Given the description of an element on the screen output the (x, y) to click on. 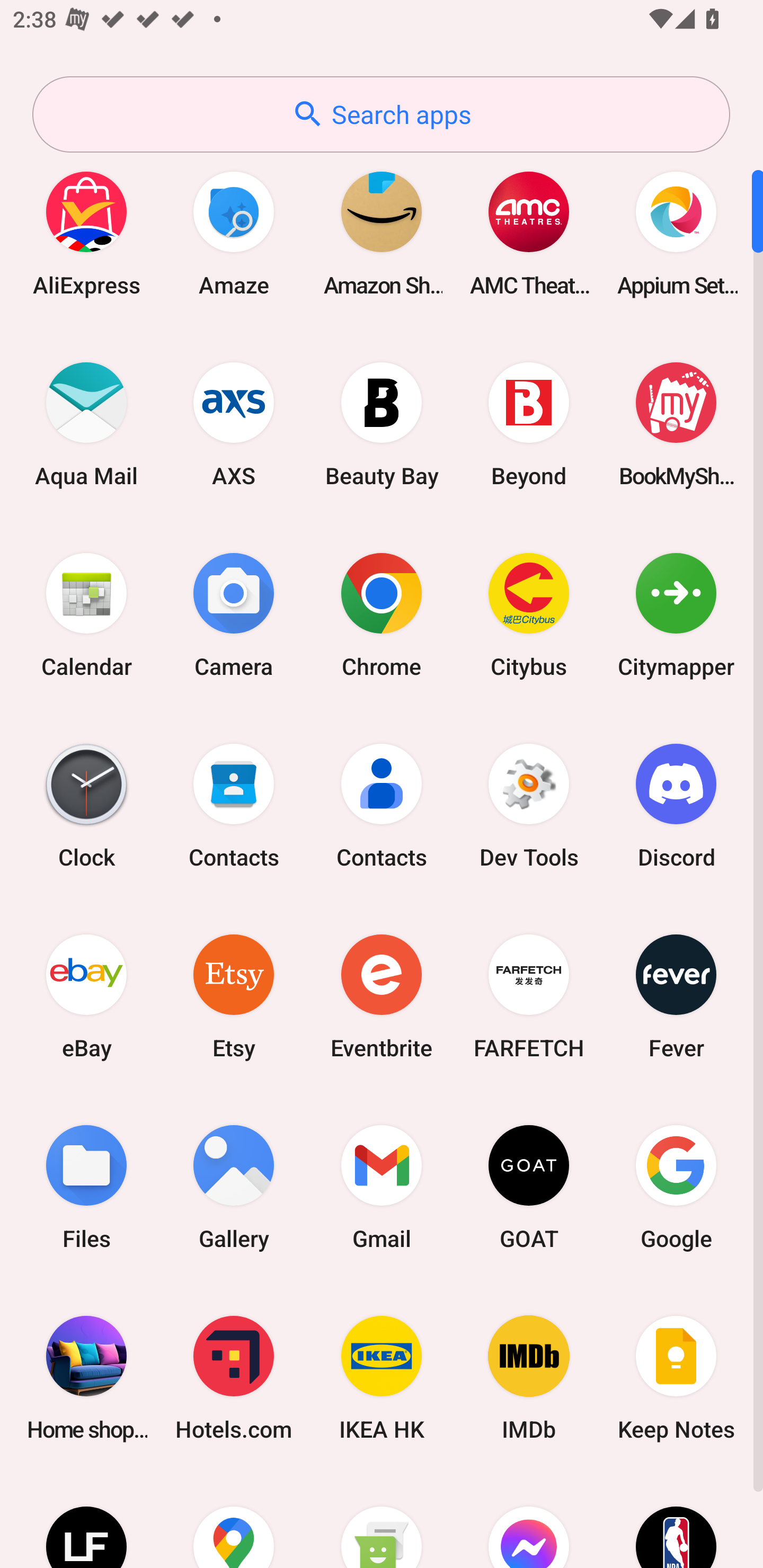
Citymapper (676, 614)
